Given the description of an element on the screen output the (x, y) to click on. 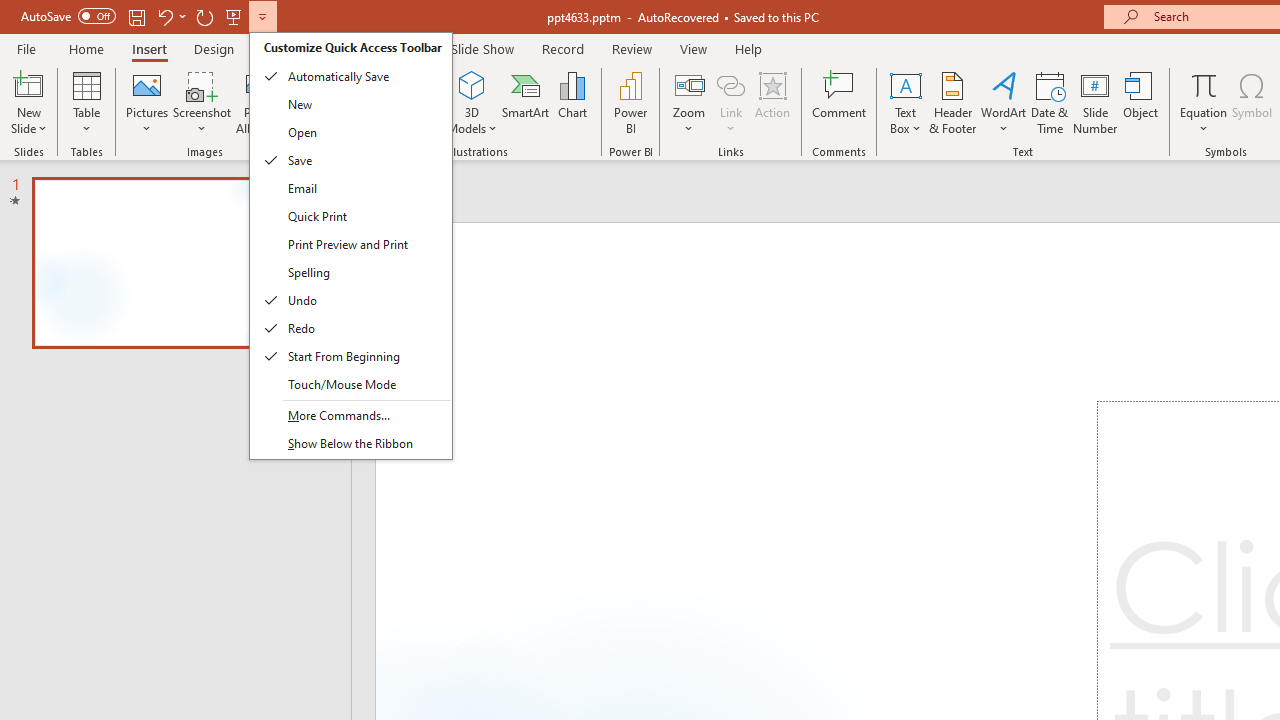
SmartArt... (525, 102)
WordArt (1004, 102)
Screenshot (202, 102)
Comment (839, 102)
Table (86, 102)
Slide Number (1095, 102)
